Given the description of an element on the screen output the (x, y) to click on. 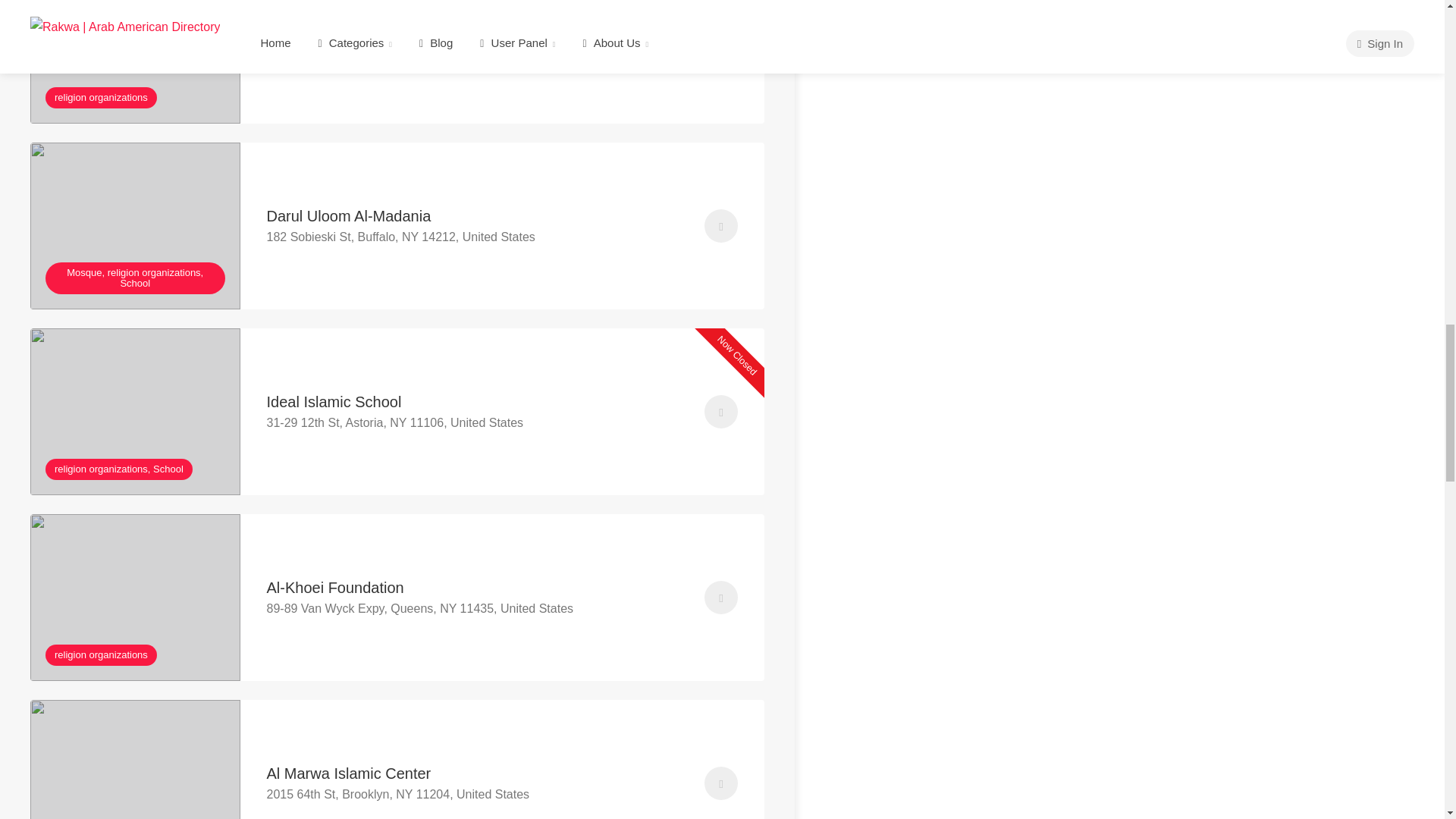
Login To Bookmark Items (721, 39)
Login To Bookmark Items (721, 225)
Login To Bookmark Items (721, 411)
Login To Bookmark Items (721, 597)
Login To Bookmark Items (721, 783)
